Given the description of an element on the screen output the (x, y) to click on. 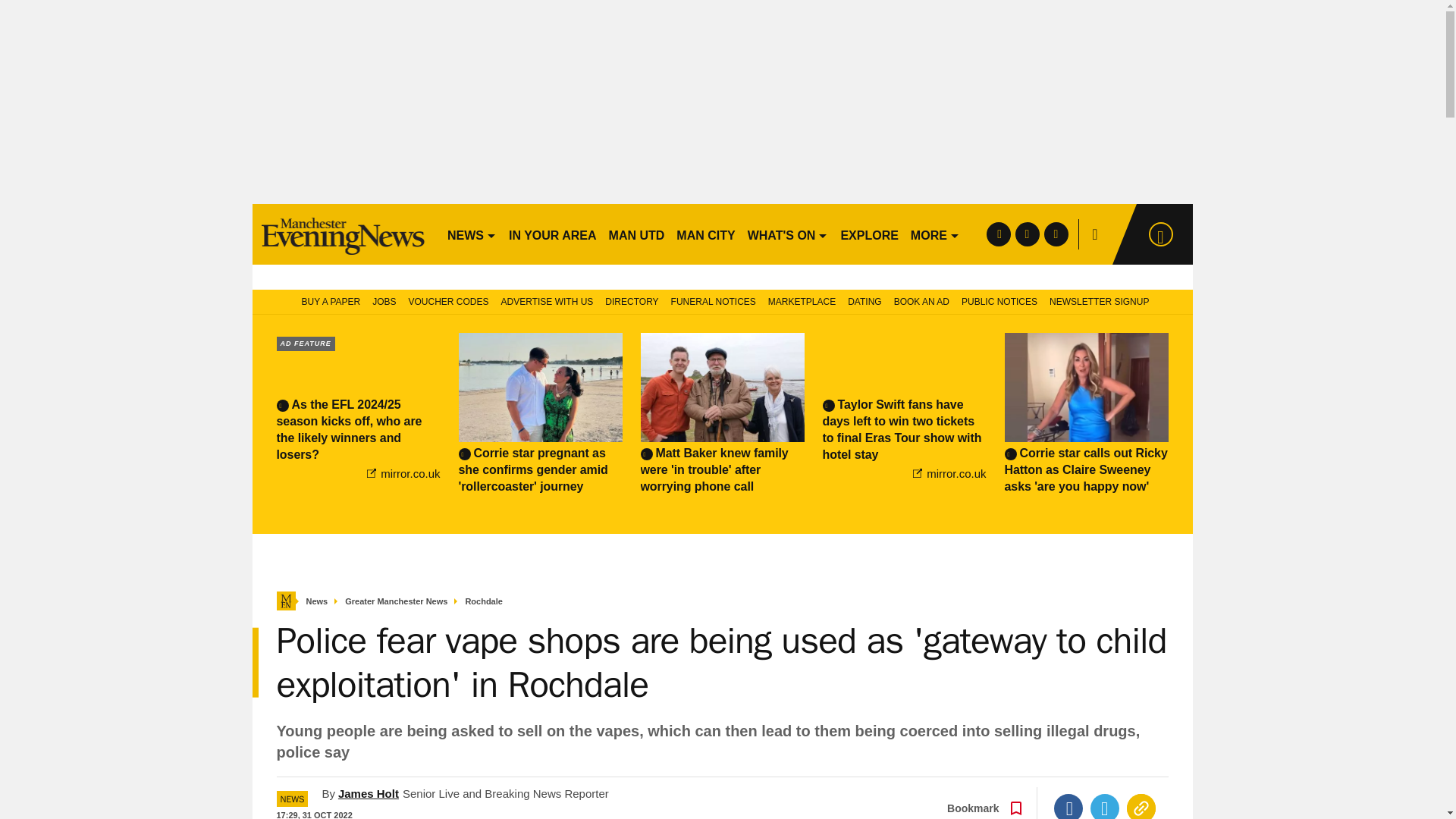
men (342, 233)
instagram (1055, 233)
twitter (1026, 233)
Twitter (1104, 806)
MAN UTD (636, 233)
Facebook (1068, 806)
MAN CITY (705, 233)
IN YOUR AREA (552, 233)
WHAT'S ON (787, 233)
facebook (997, 233)
